Given the description of an element on the screen output the (x, y) to click on. 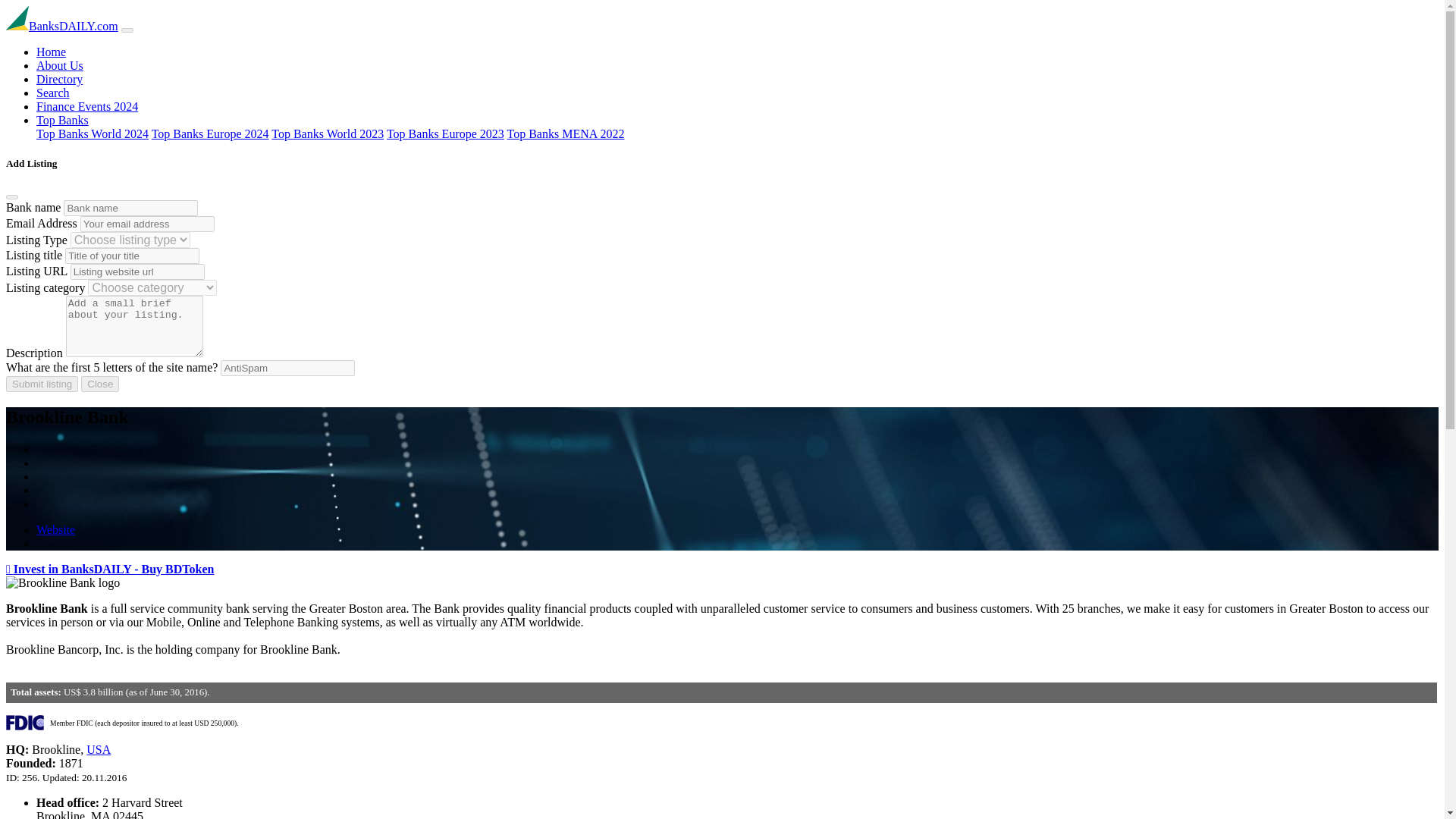
Top Banks World 2024 (92, 133)
BanksDAILY.com (61, 25)
USA (97, 748)
Top Banks World 2023 (327, 133)
Search (52, 92)
About Us (59, 65)
Website (55, 529)
Finance Events 2024 (87, 106)
Top Banks Europe 2024 (210, 133)
Directory (59, 78)
